Given the description of an element on the screen output the (x, y) to click on. 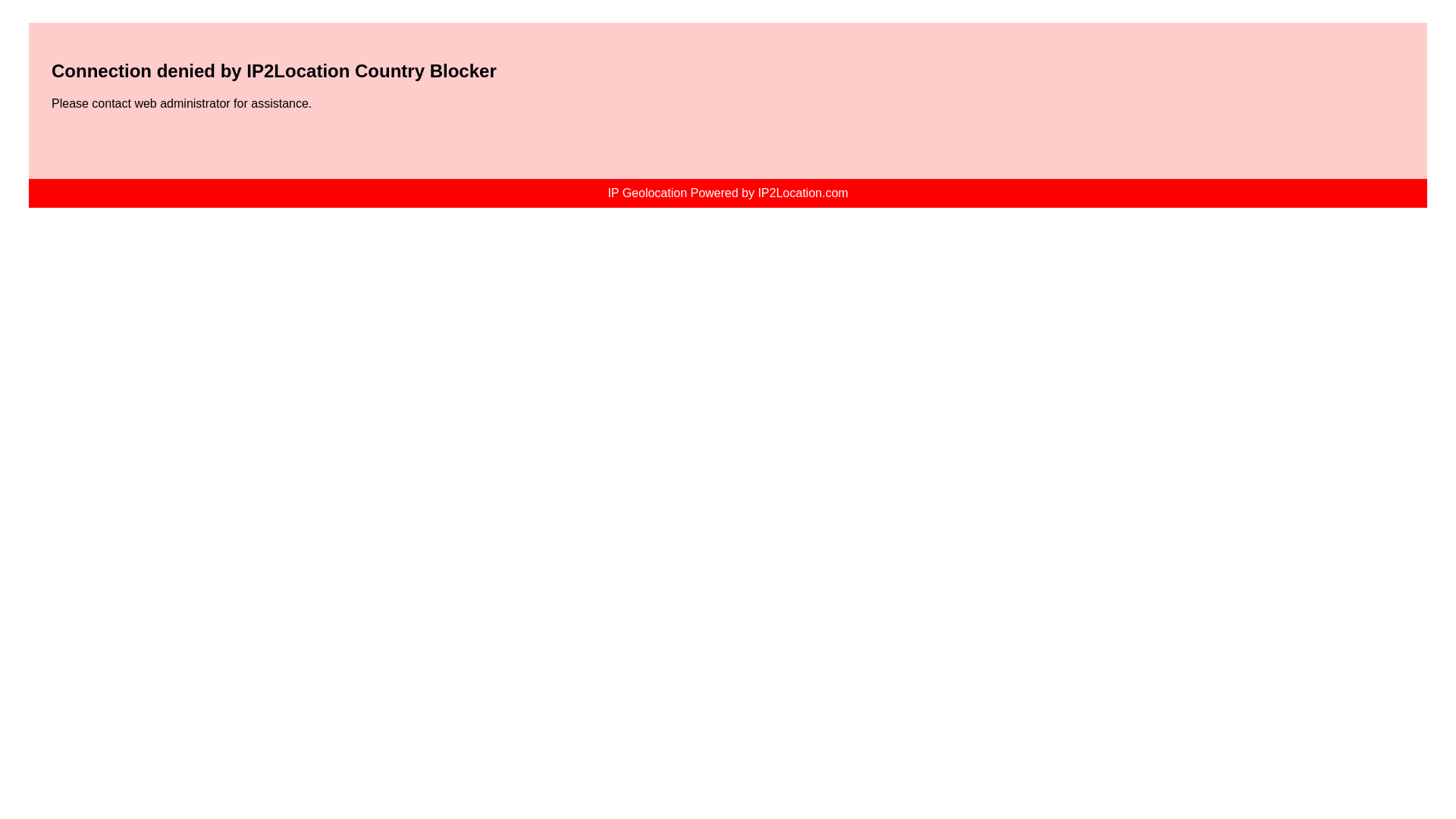
IP Geolocation Powered by IP2Location.com (727, 192)
